Given the description of an element on the screen output the (x, y) to click on. 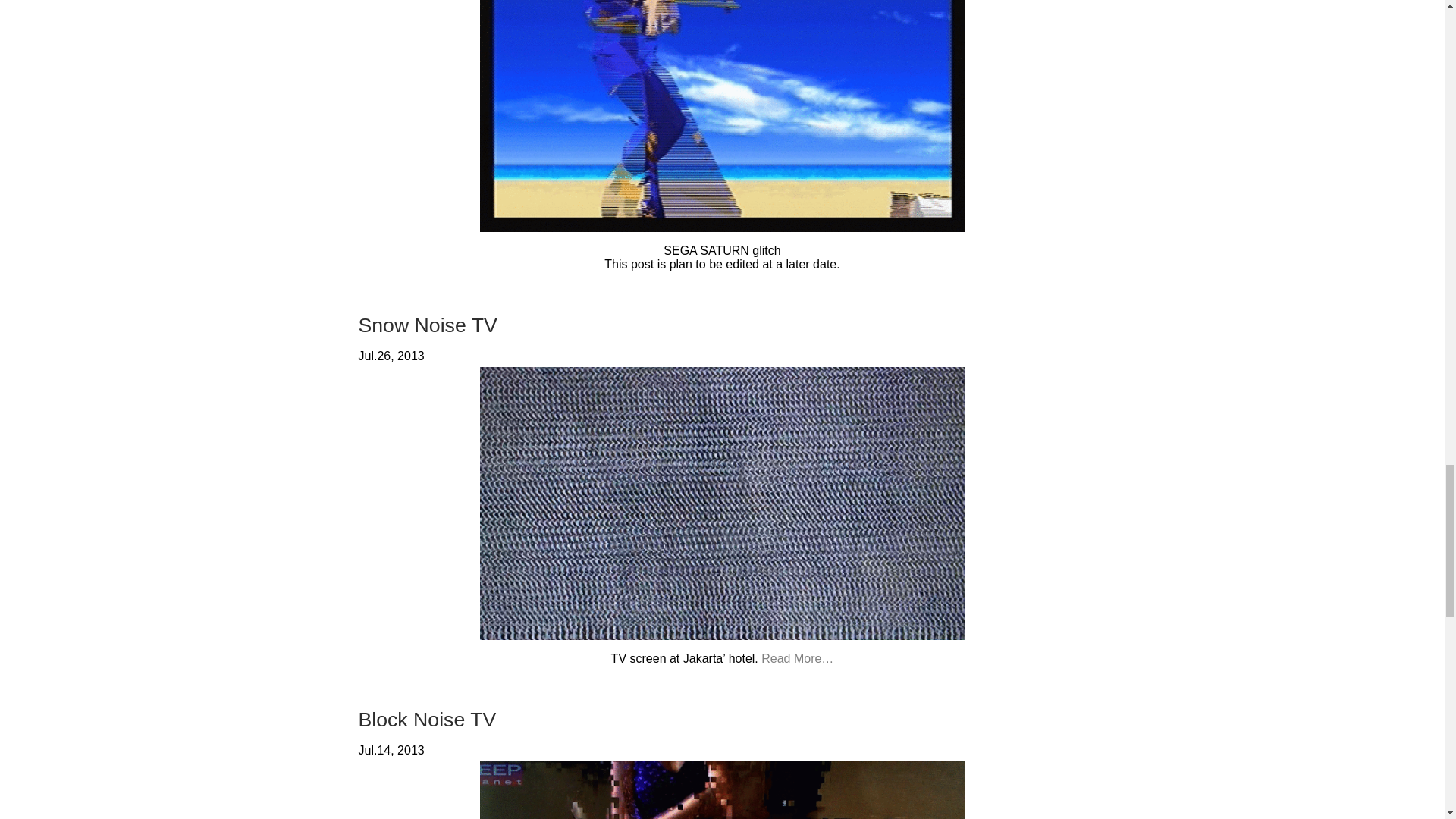
Snow Noise TV (427, 324)
Block Noise TV (427, 719)
Block Noise TV (427, 719)
Snow Noise TV (427, 324)
